Given the description of an element on the screen output the (x, y) to click on. 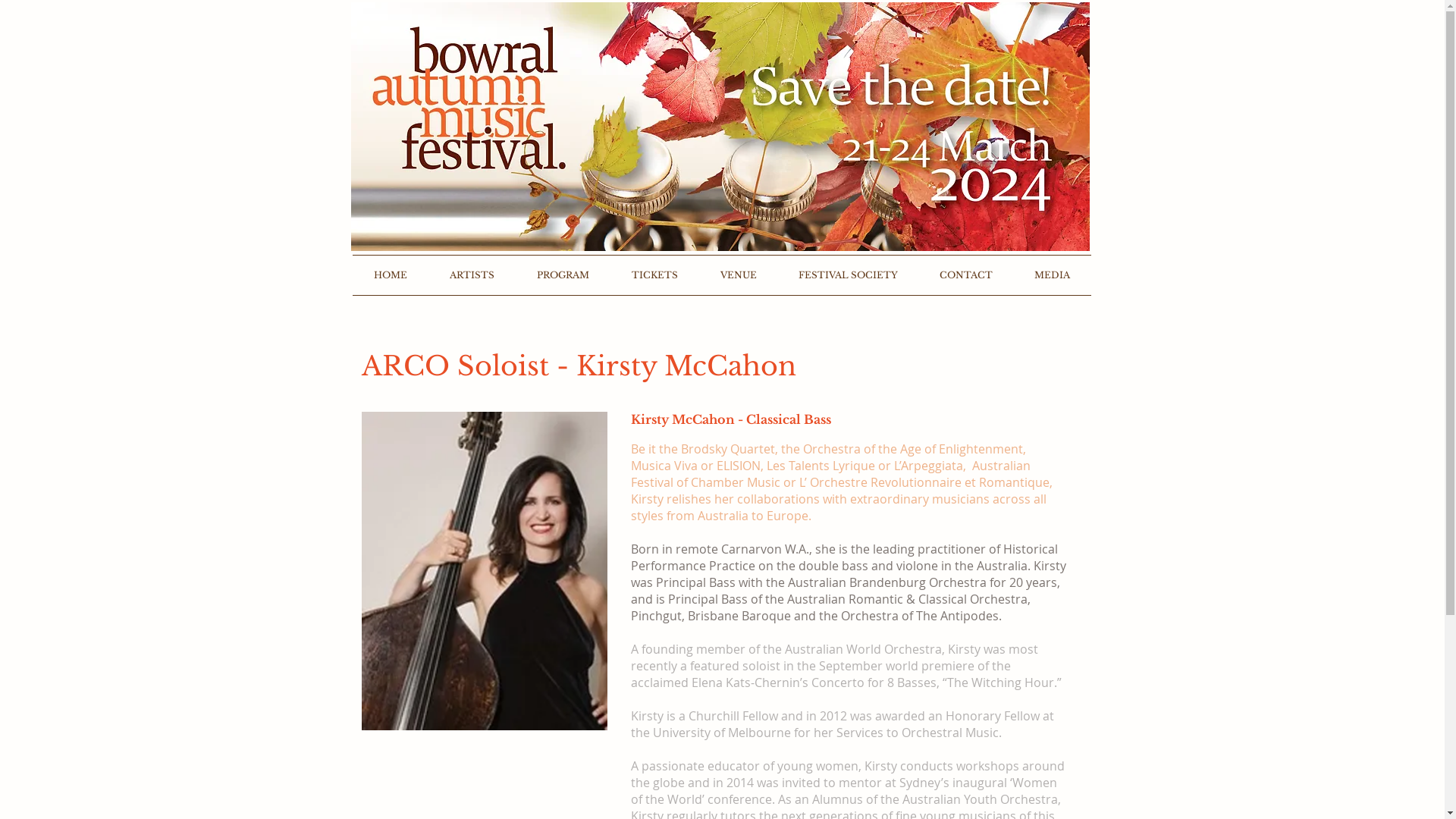
HOME Element type: text (389, 274)
MEDIA Element type: text (1051, 274)
PROGRAM Element type: text (562, 274)
ARTISTS Element type: text (470, 274)
VENUE Element type: text (738, 274)
FESTIVAL SOCIETY Element type: text (848, 274)
TICKETS Element type: text (653, 274)
CONTACT Element type: text (966, 274)
